Given the description of an element on the screen output the (x, y) to click on. 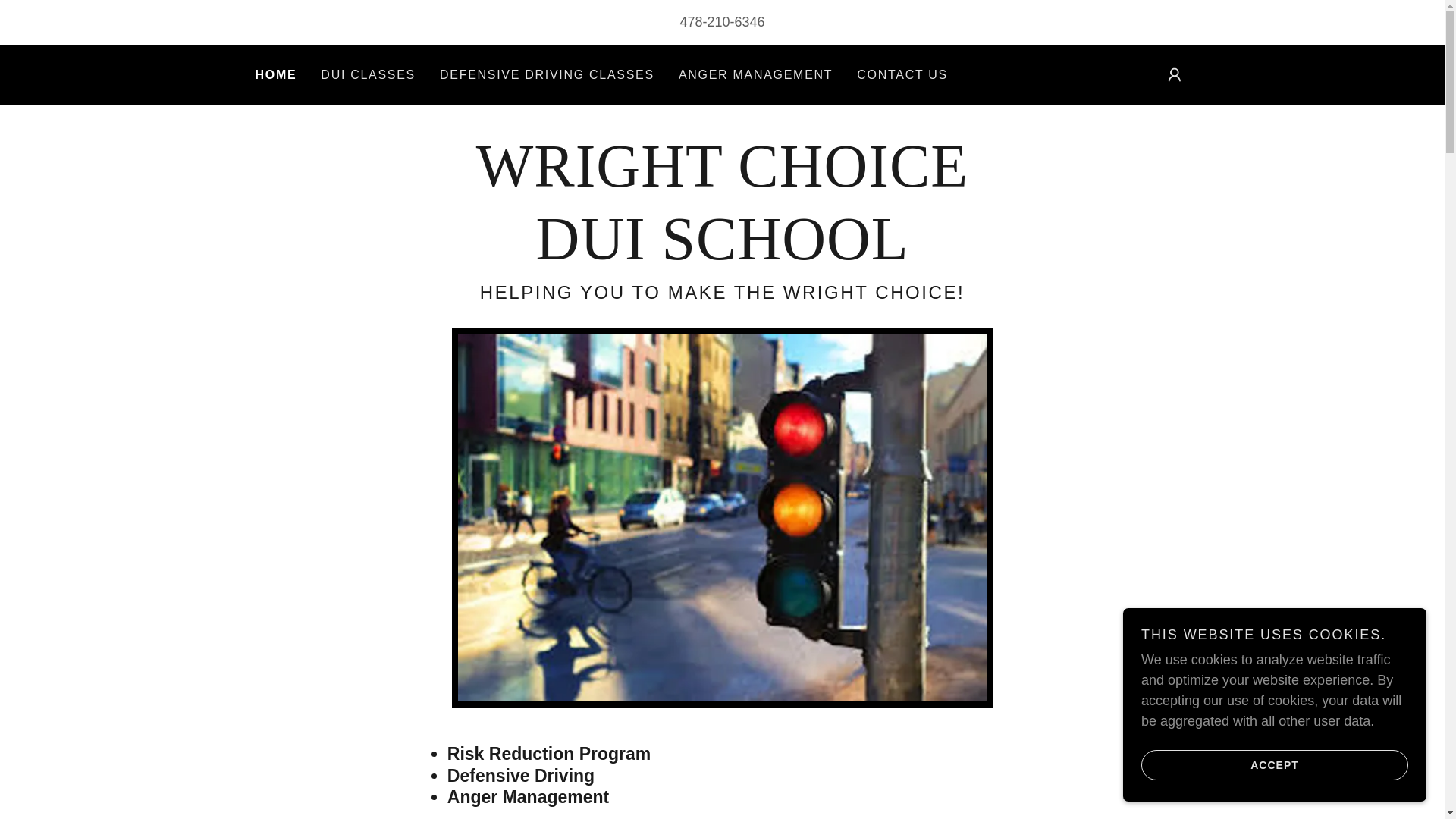
CONTACT US (901, 74)
HOME (275, 75)
WRIGHT CHOICE DUI SCHOOL (721, 254)
478-210-6346 (721, 21)
Wright Choice DUI School (721, 254)
DEFENSIVE DRIVING CLASSES (547, 74)
ACCEPT (1274, 764)
ANGER MANAGEMENT (755, 74)
DUI CLASSES (367, 74)
